Given the description of an element on the screen output the (x, y) to click on. 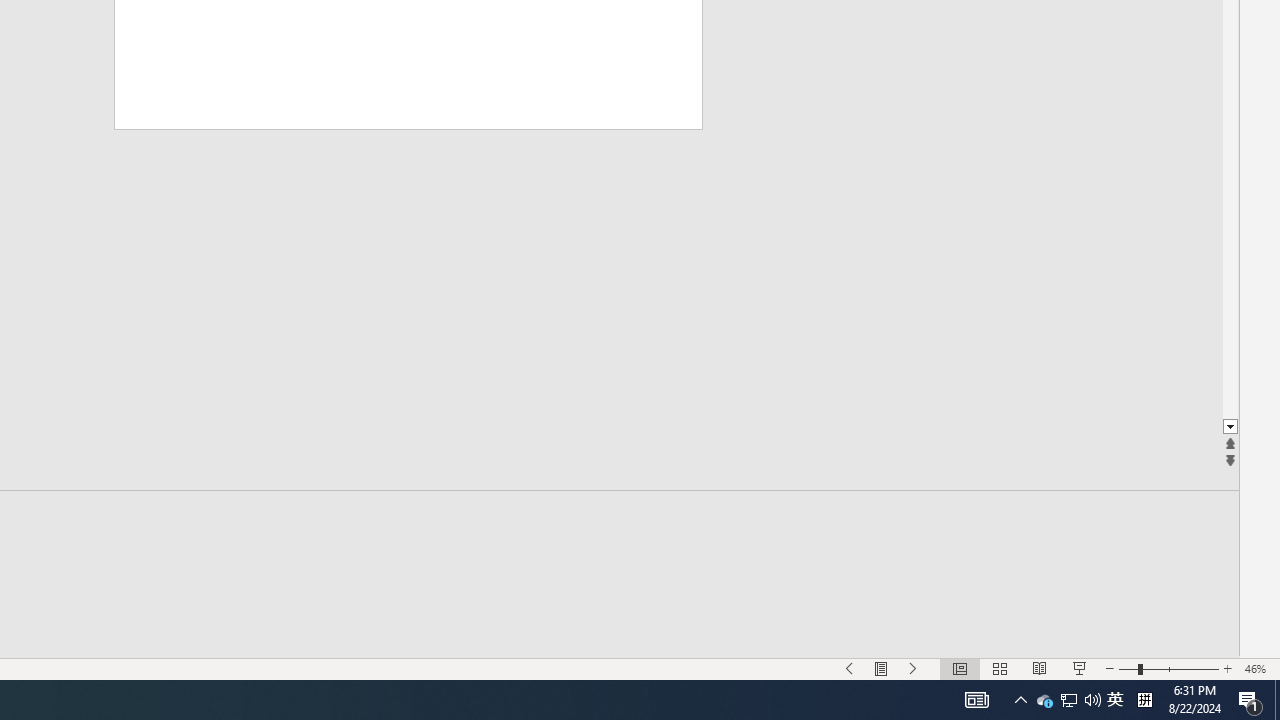
Menu On (882, 668)
